Given the description of an element on the screen output the (x, y) to click on. 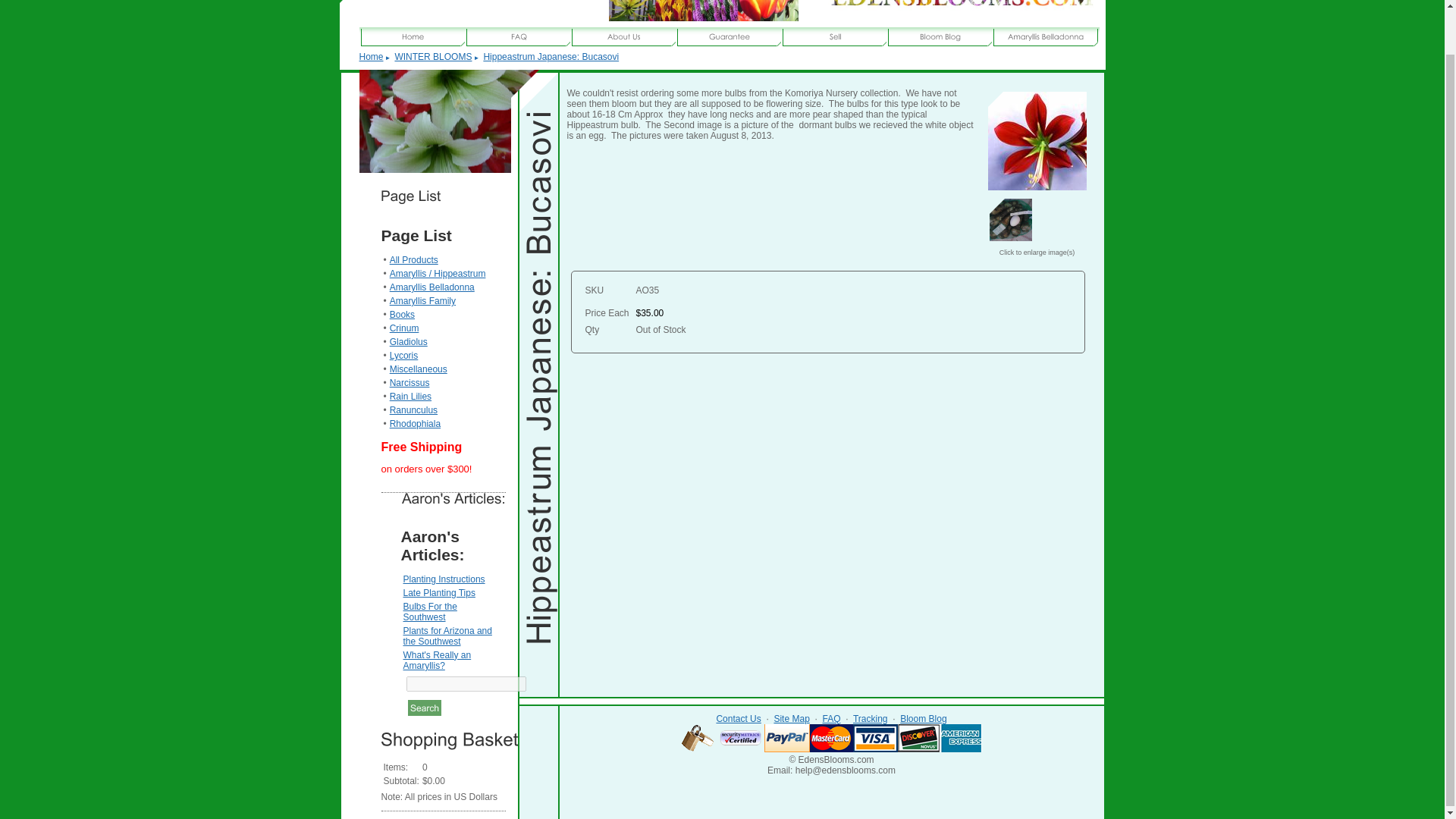
Site Map (791, 718)
Hippeastrum Japanese: Bucasovi (1036, 186)
Contact Us (738, 718)
Hippeastrum Japanese: Bucasovi (1036, 140)
Planting Instructions (443, 579)
FAQ (831, 718)
Rain Lilies (410, 396)
Hippeastrum Japanese: Bucasovi (550, 56)
Tracking (870, 718)
Bloom Blog (922, 718)
